Given the description of an element on the screen output the (x, y) to click on. 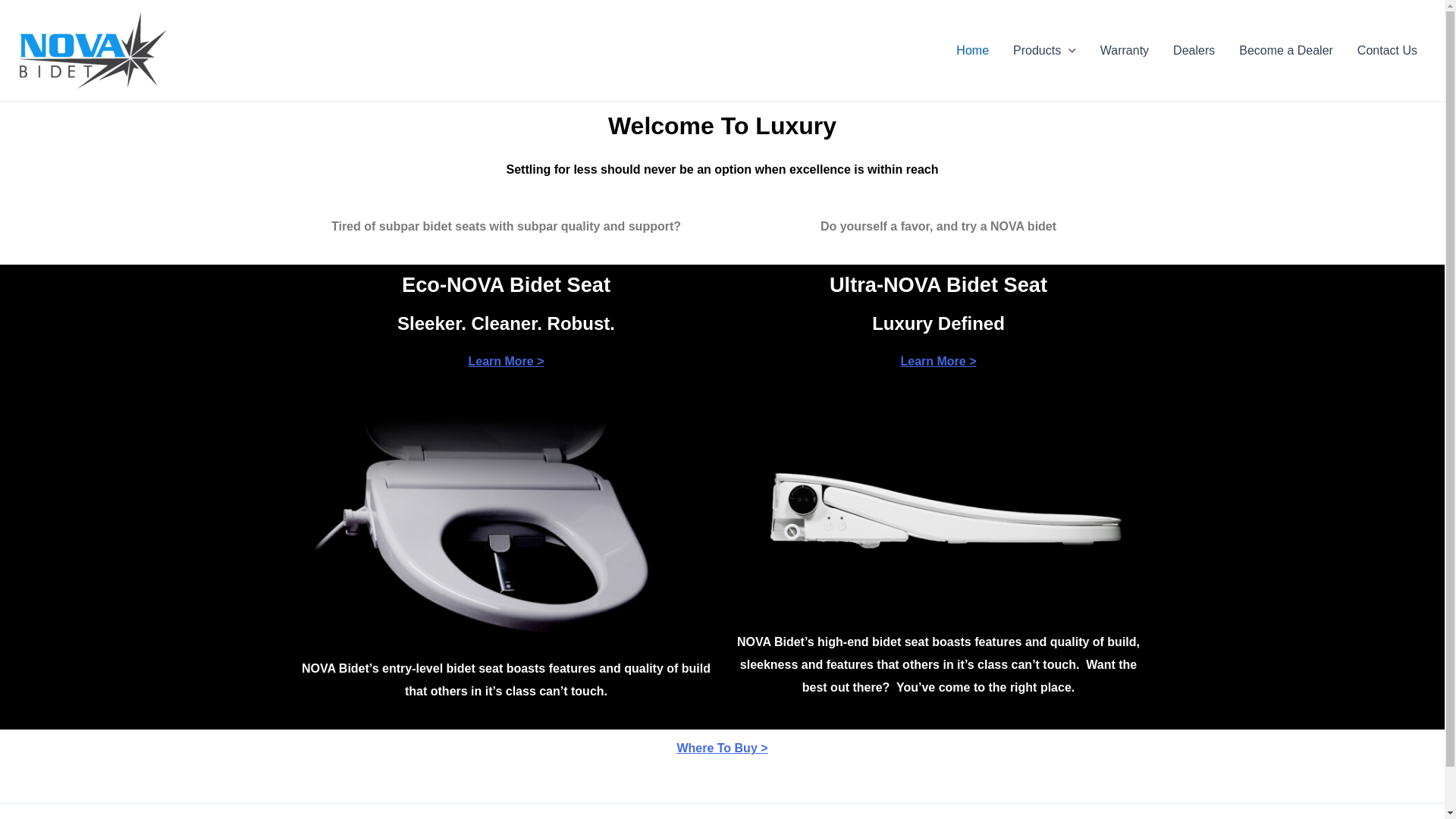
Contact Us (1387, 49)
Home (972, 49)
Products (1044, 49)
Dealers (1193, 49)
Become a Dealer (1286, 49)
Warranty (1123, 49)
